Given the description of an element on the screen output the (x, y) to click on. 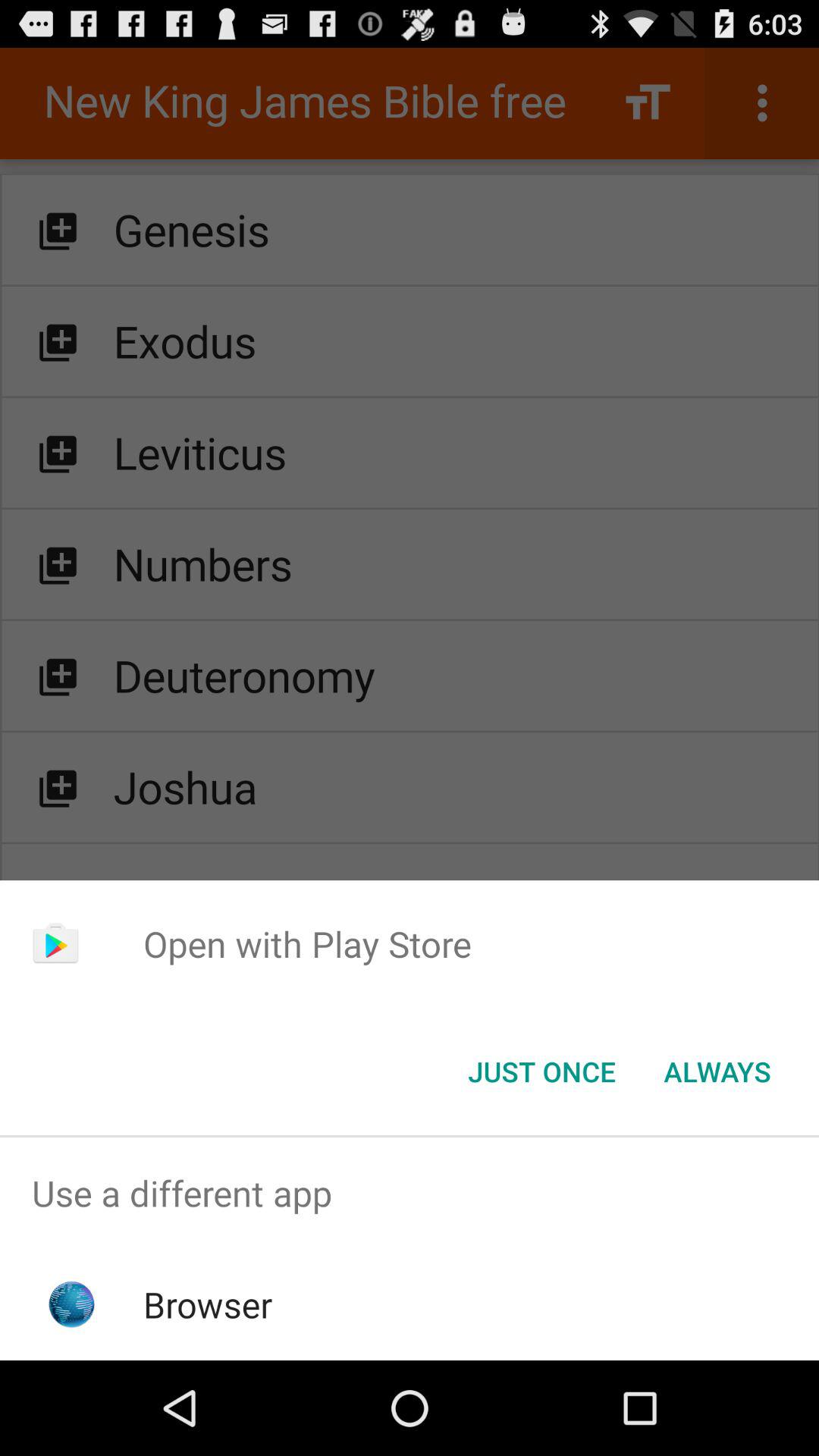
turn on just once button (541, 1071)
